Given the description of an element on the screen output the (x, y) to click on. 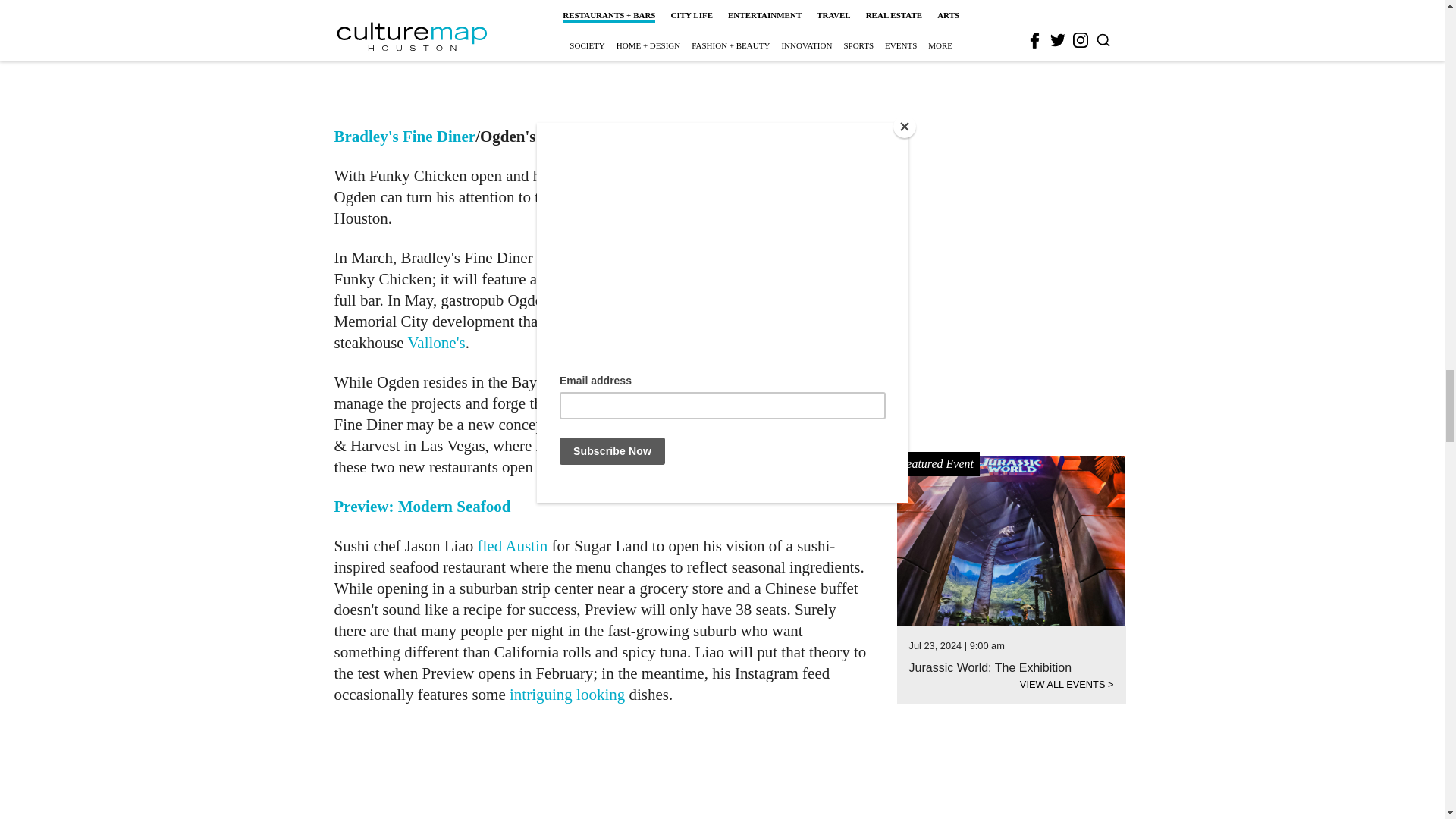
3rd party ad content (600, 53)
